Given the description of an element on the screen output the (x, y) to click on. 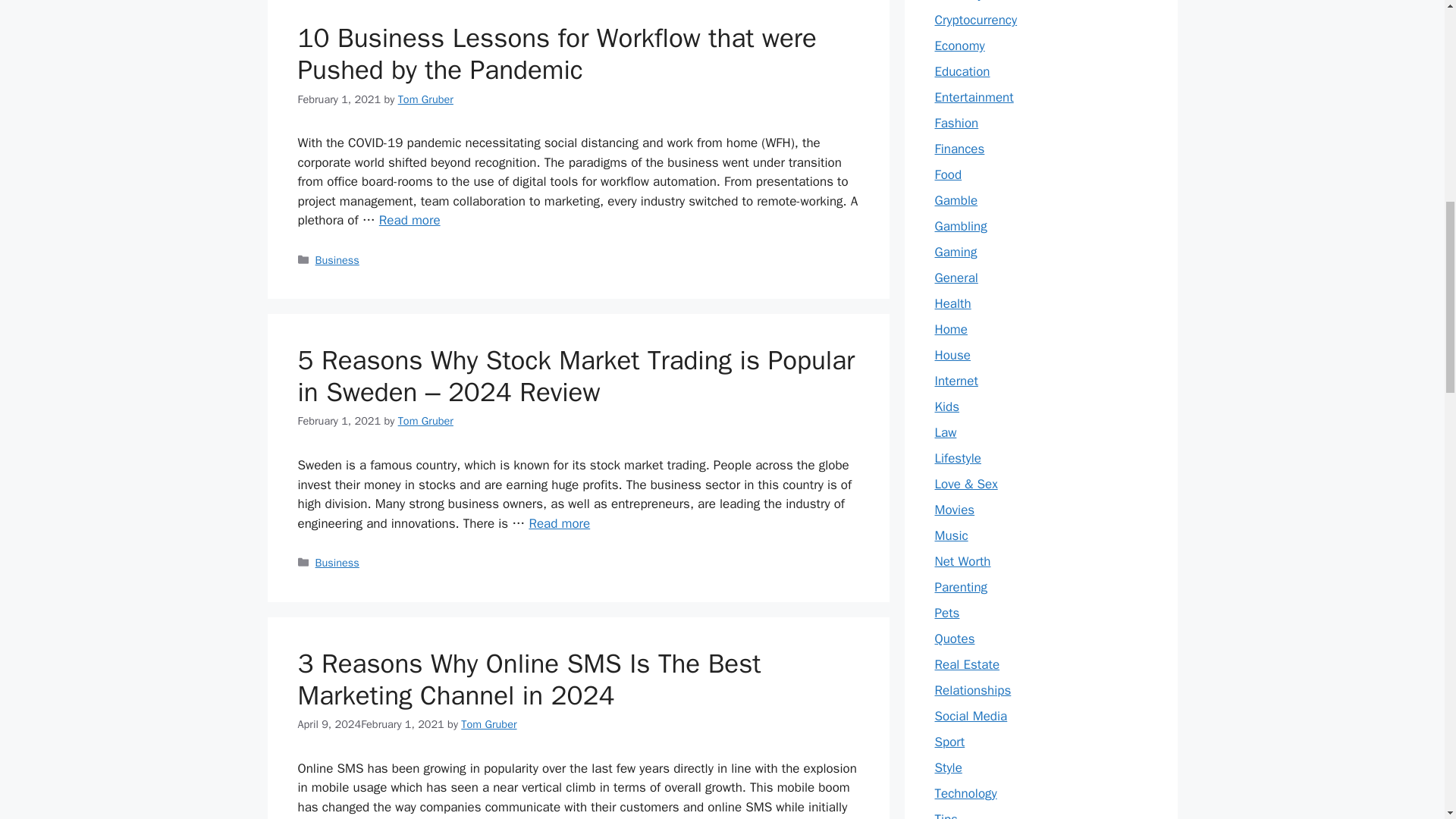
View all posts by Tom Gruber (424, 420)
Business (337, 259)
Read more (558, 523)
Read more (409, 220)
Business (337, 562)
Tom Gruber (424, 99)
View all posts by Tom Gruber (424, 99)
Read more (532, 818)
